Given the description of an element on the screen output the (x, y) to click on. 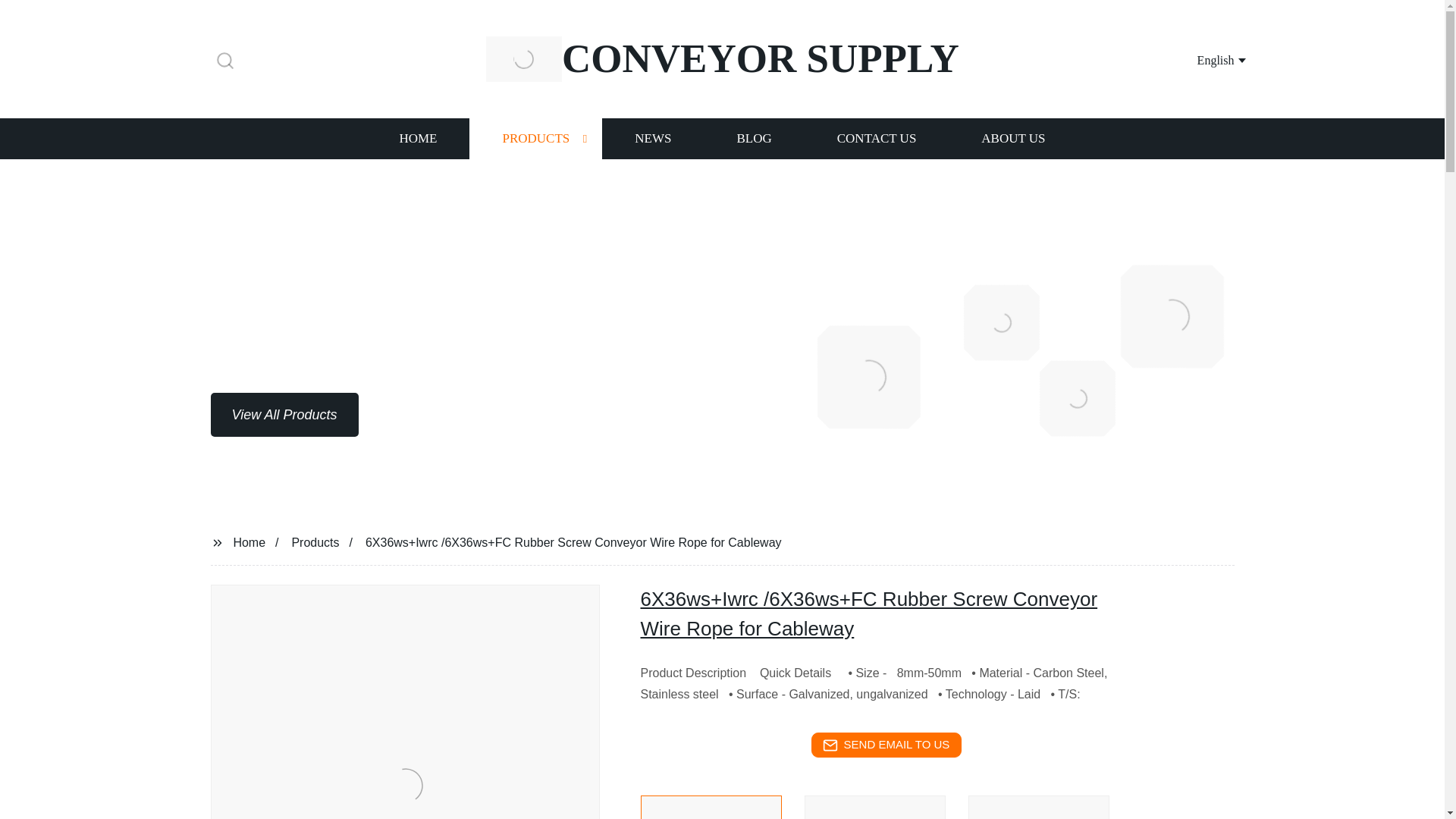
PRODUCTS (535, 137)
NEWS (652, 137)
CONTACT US (877, 137)
Products (315, 541)
English (1203, 59)
ABOUT US (1013, 137)
HOME (417, 137)
BLOG (753, 137)
